Given the description of an element on the screen output the (x, y) to click on. 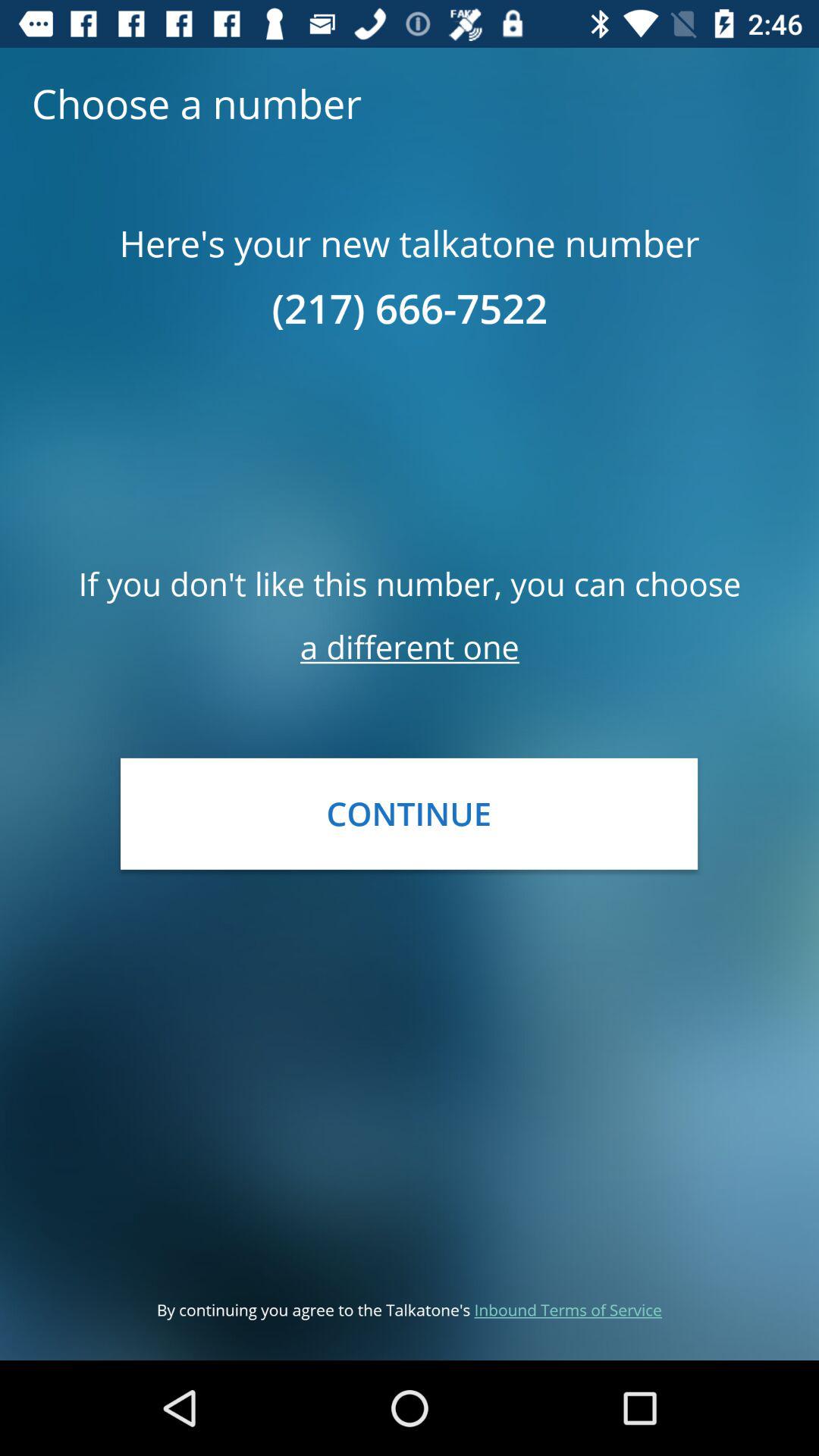
press the a different one item (409, 646)
